Given the description of an element on the screen output the (x, y) to click on. 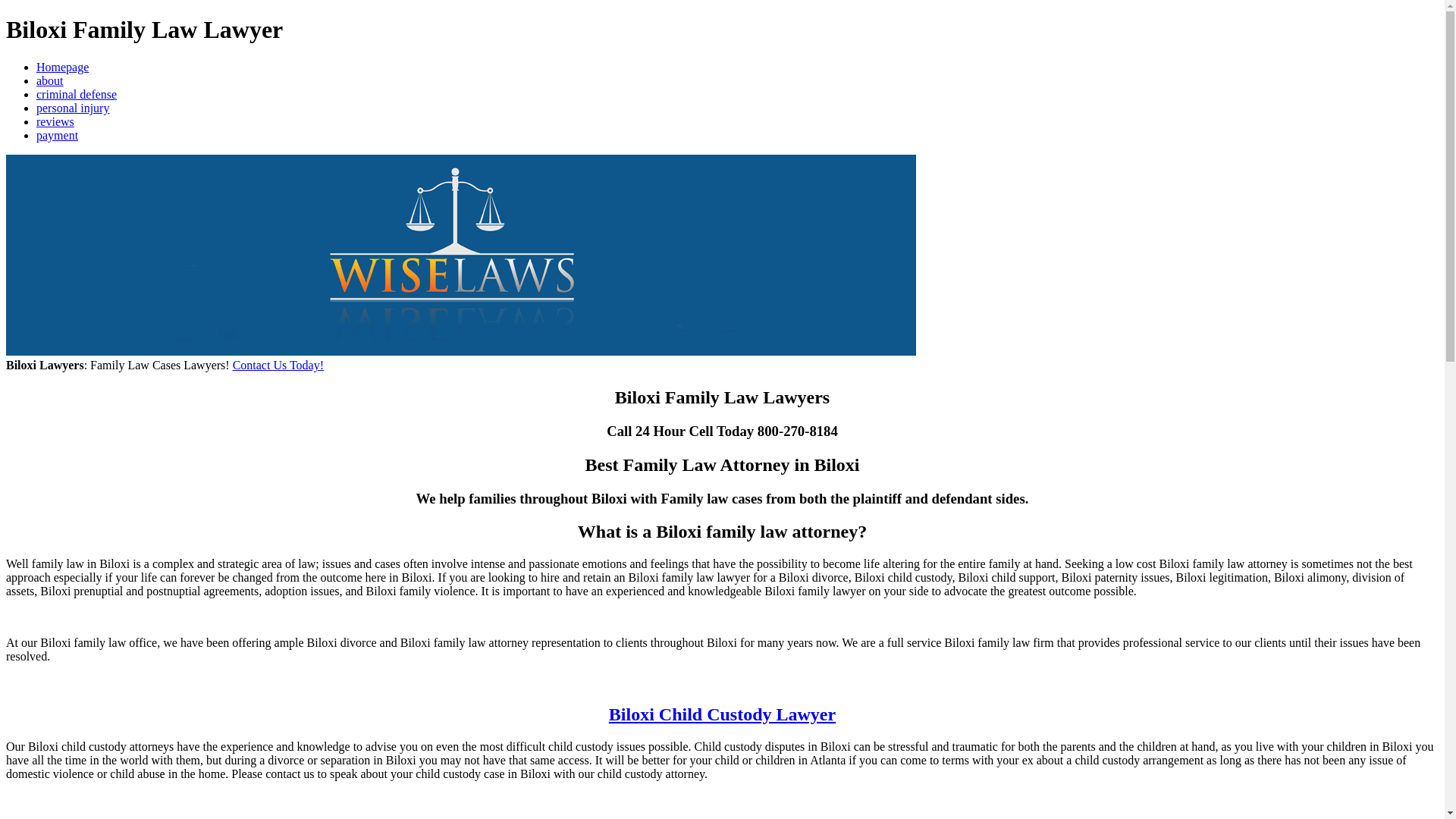
payment (57, 134)
personal injury (72, 107)
Biloxi Child Custody Lawyer (721, 713)
Contact Us Today! (277, 364)
reviews (55, 121)
Homepage (62, 66)
about (50, 80)
criminal defense (76, 93)
